Given the description of an element on the screen output the (x, y) to click on. 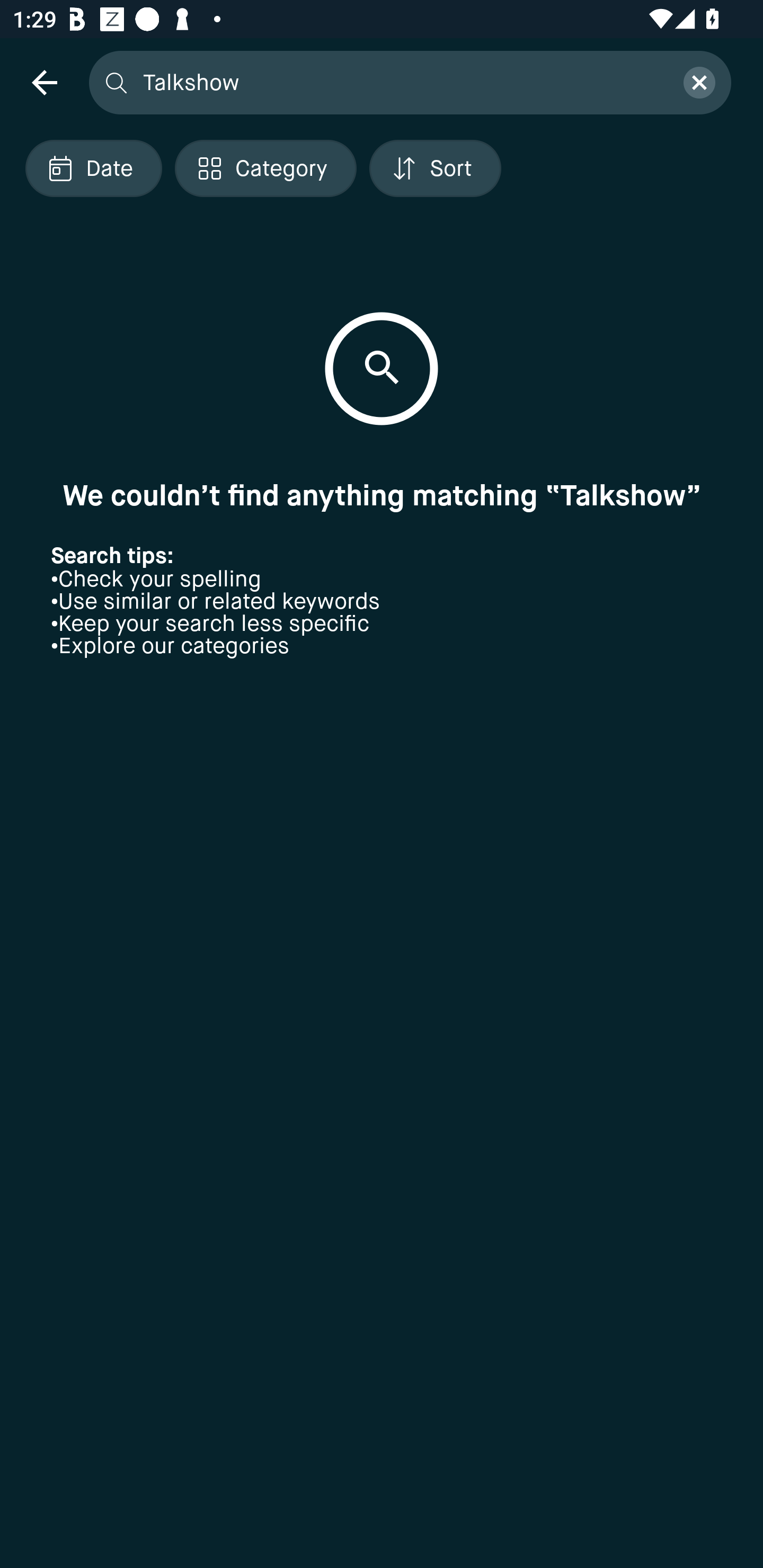
navigation icon (44, 81)
Talkshow (402, 81)
Localized description Date (93, 168)
Localized description Category (265, 168)
Localized description Sort (435, 168)
We couldn’t find anything matching “Talkshow” (381, 495)
